Given the description of an element on the screen output the (x, y) to click on. 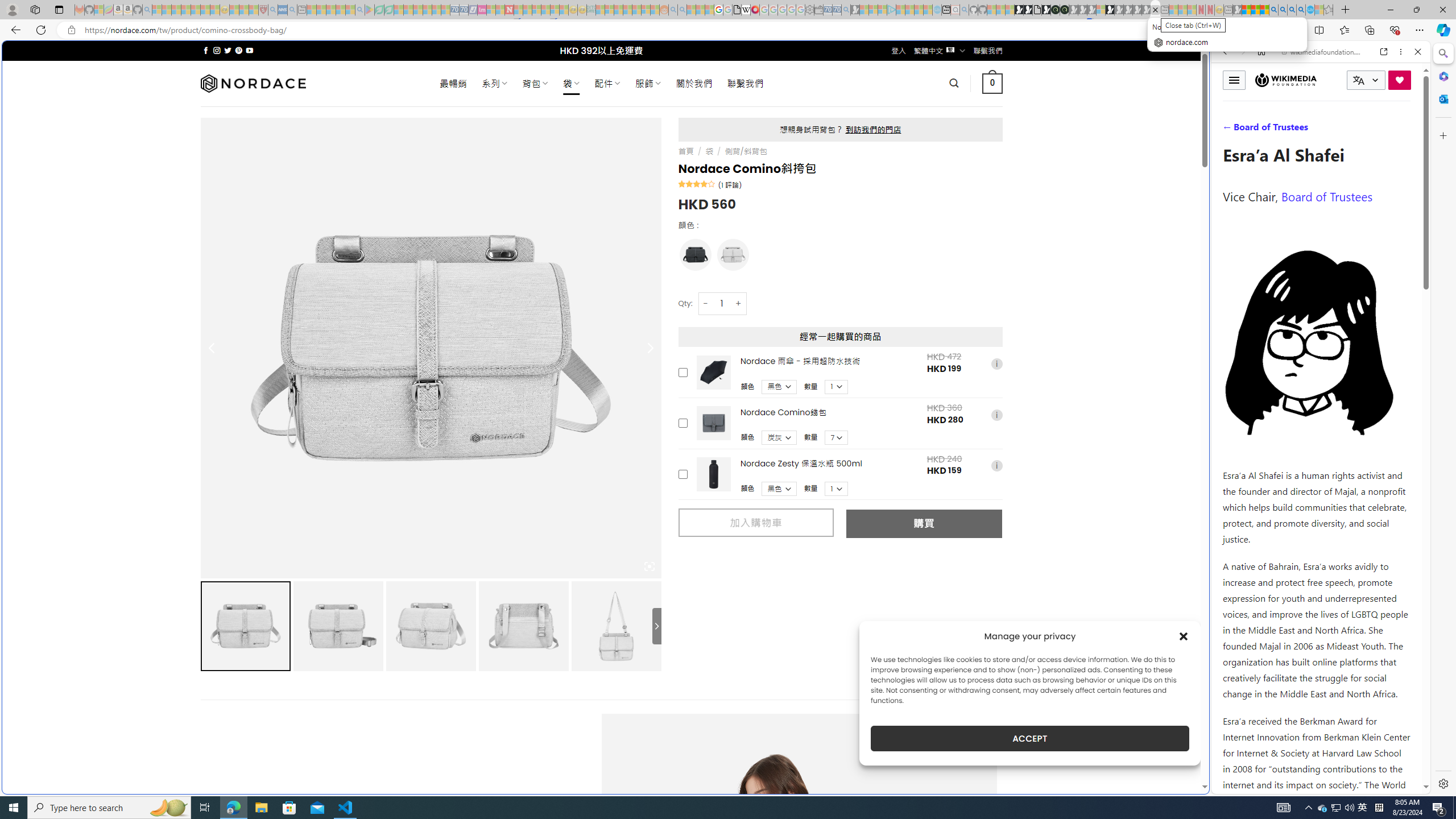
Follow on YouTube (249, 50)
Minimize (1390, 9)
Add this page to favorites (Ctrl+D) (1289, 29)
Favorites (922, 683)
Class: cmplz-close (1183, 636)
Personal Profile (12, 9)
Tabs you've opened (885, 151)
Trusted Community Engagement and Contributions | Guidelines (518, 9)
Follow on Pinterest (237, 50)
